Given the description of an element on the screen output the (x, y) to click on. 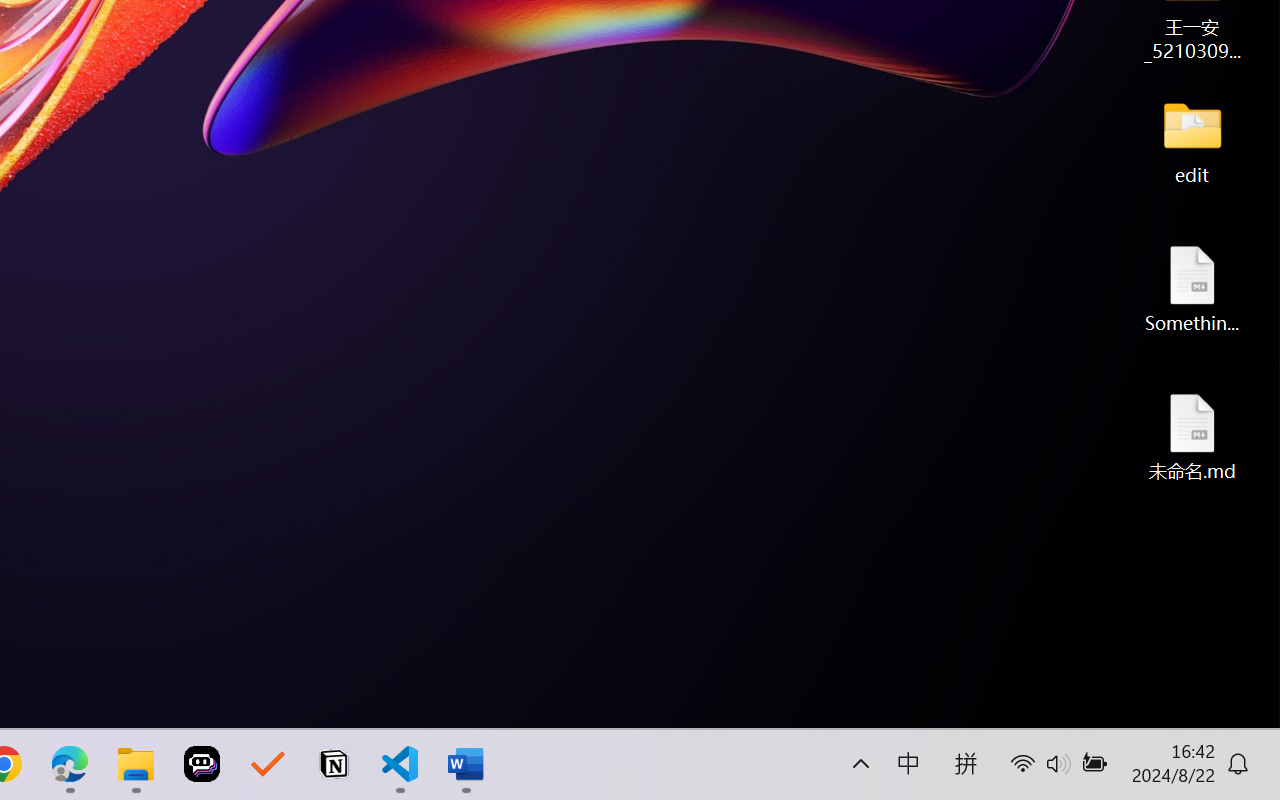
Action Center, 1 new notification (1115, 777)
